Given the description of an element on the screen output the (x, y) to click on. 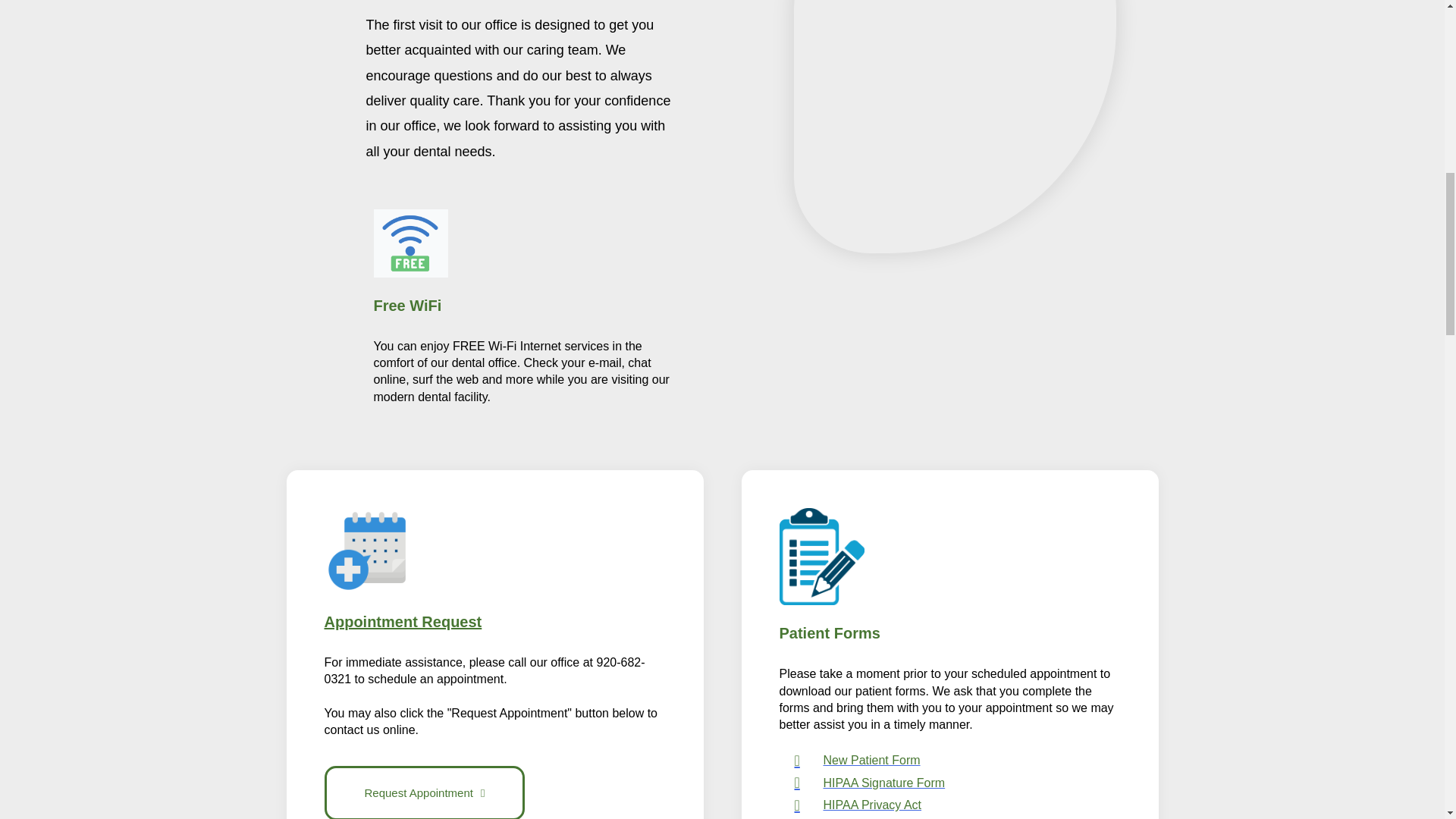
New Patient Form (957, 760)
Appointment Request (402, 621)
HIPAA Signature Form (957, 783)
HIPAA Privacy Act (957, 804)
Request Appointment (424, 792)
